Given the description of an element on the screen output the (x, y) to click on. 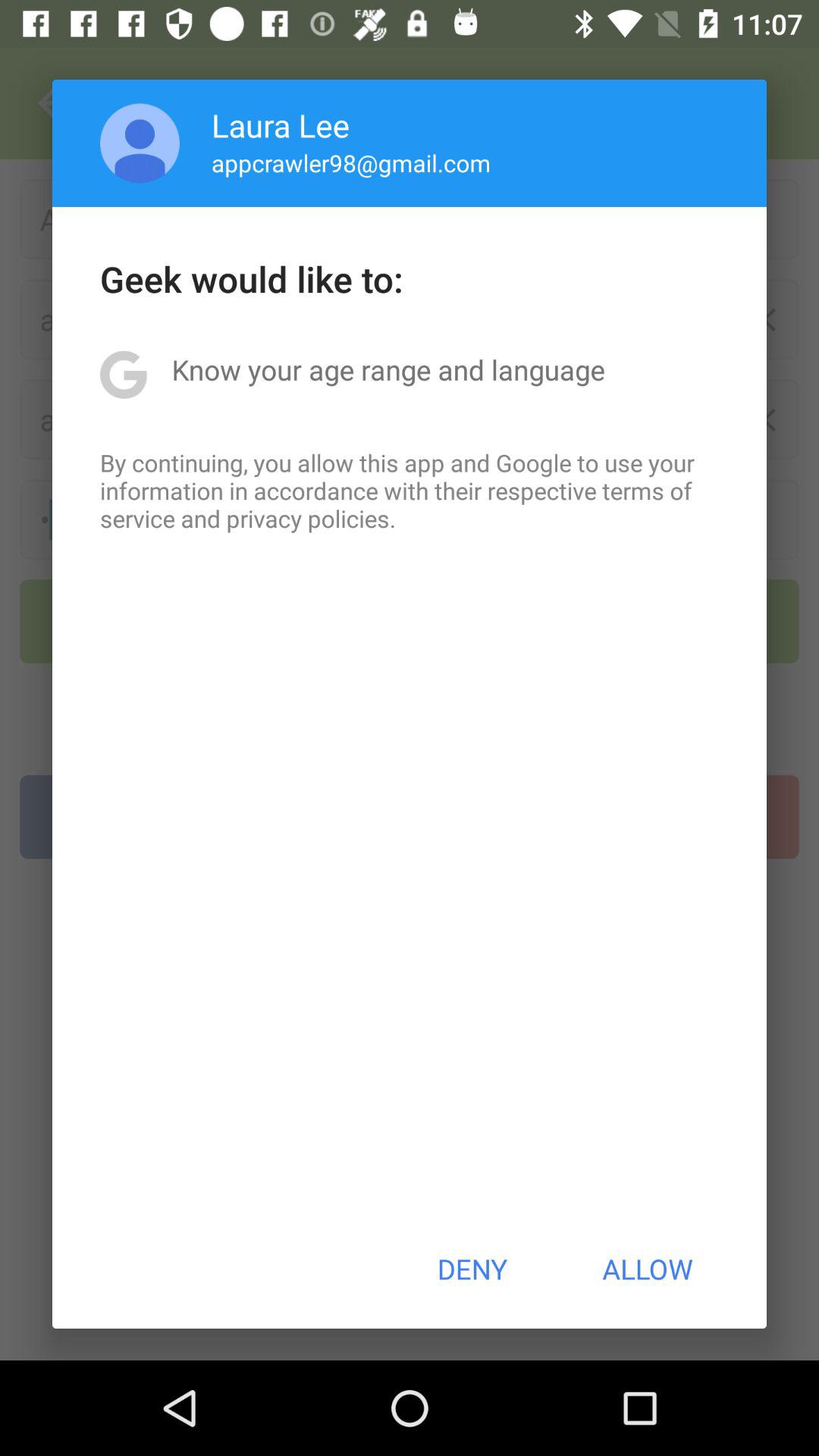
select the icon above appcrawler98@gmail.com icon (280, 124)
